Given the description of an element on the screen output the (x, y) to click on. 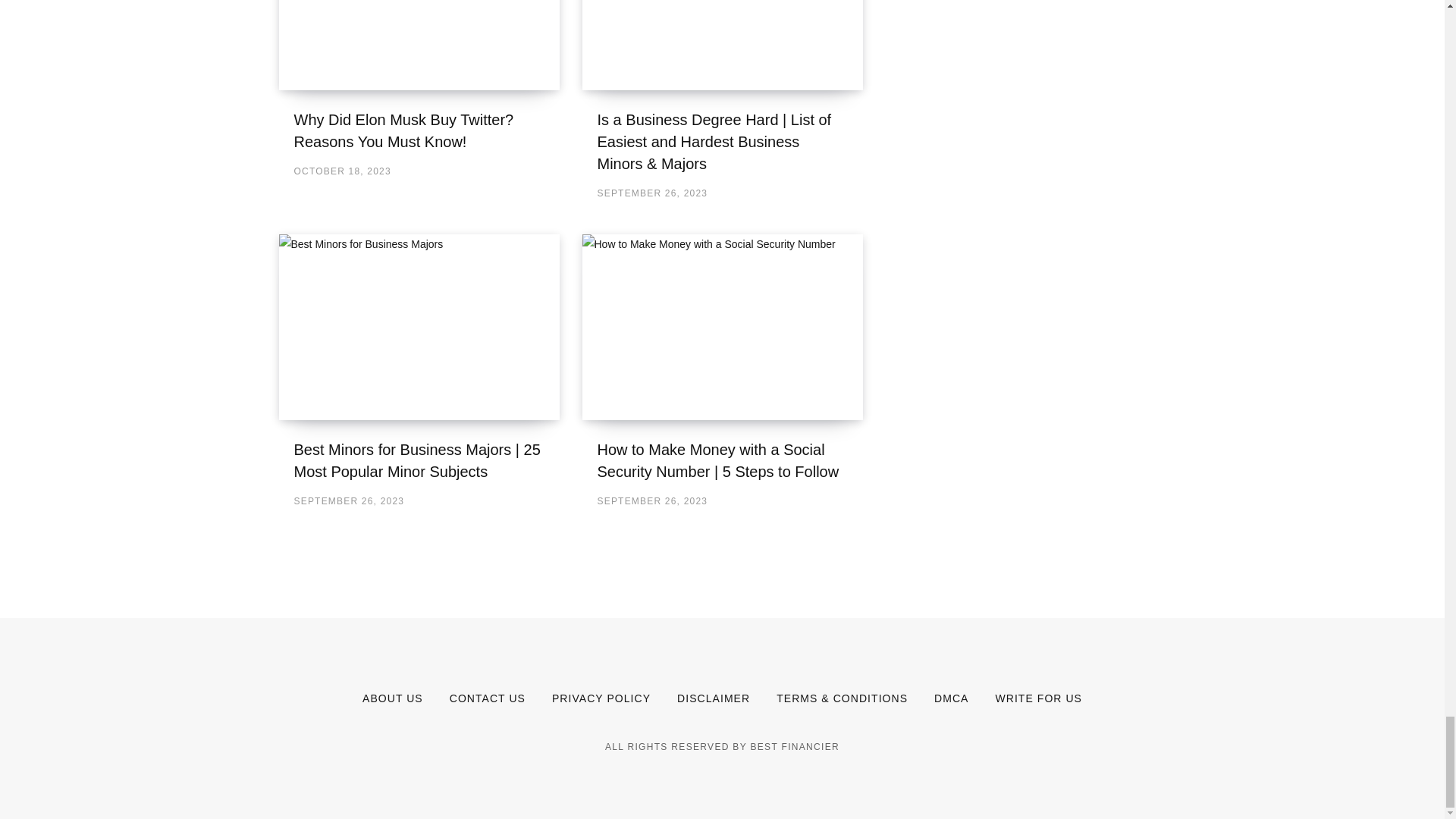
DISCLAIMER (713, 698)
Why Did Elon Musk Buy Twitter? Reasons You Must Know! (403, 130)
PRIVACY POLICY (600, 698)
WRITE FOR US (1037, 698)
DMCA (951, 698)
CONTACT US (487, 698)
ABOUT US (392, 698)
Why Did Elon Musk Buy Twitter? Reasons You Must Know! (419, 45)
